Given the description of an element on the screen output the (x, y) to click on. 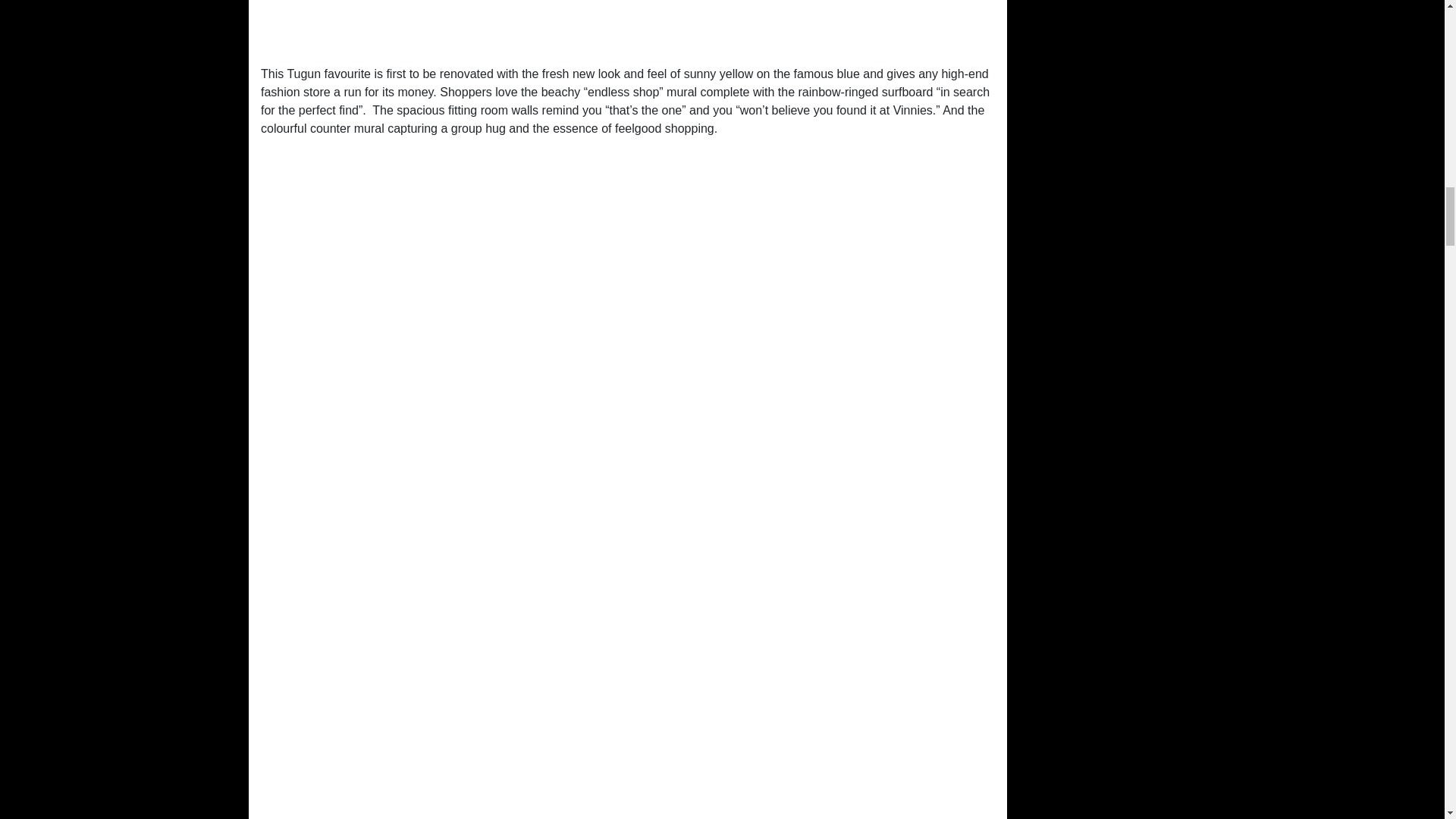
Vinnies Op Shop, Tugun (627, 26)
